Given the description of an element on the screen output the (x, y) to click on. 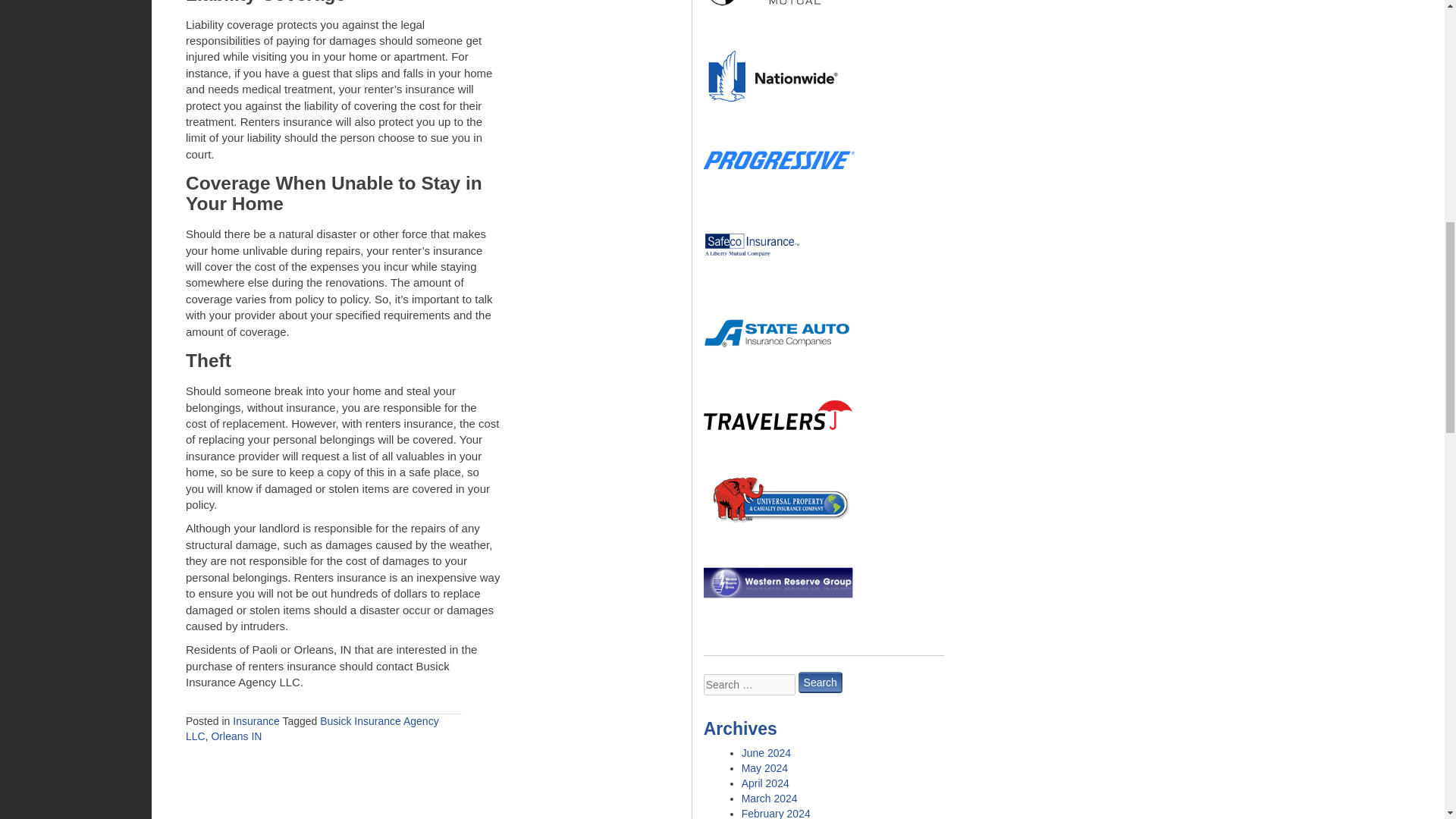
Search (820, 681)
Search (820, 681)
